Given the description of an element on the screen output the (x, y) to click on. 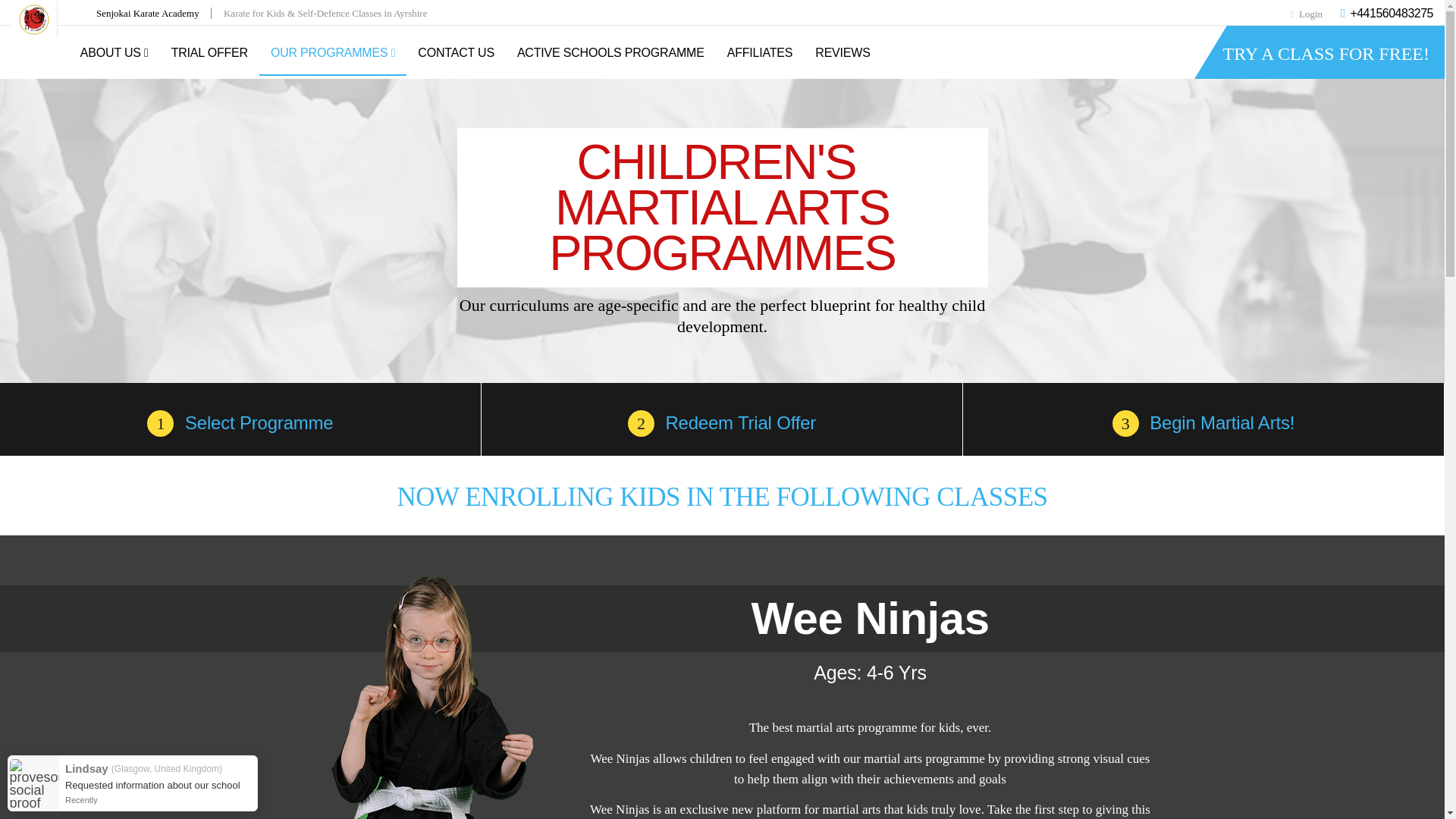
OUR PROGRAMMES (332, 53)
Login (1306, 13)
Senjokai Karate Academy (153, 12)
ACTIVE SCHOOLS PROGRAMME (610, 52)
AFFILIATES (760, 52)
ABOUT US (114, 52)
TRIAL OFFER (209, 52)
REVIEWS (841, 52)
CONTACT US (455, 52)
